Given the description of an element on the screen output the (x, y) to click on. 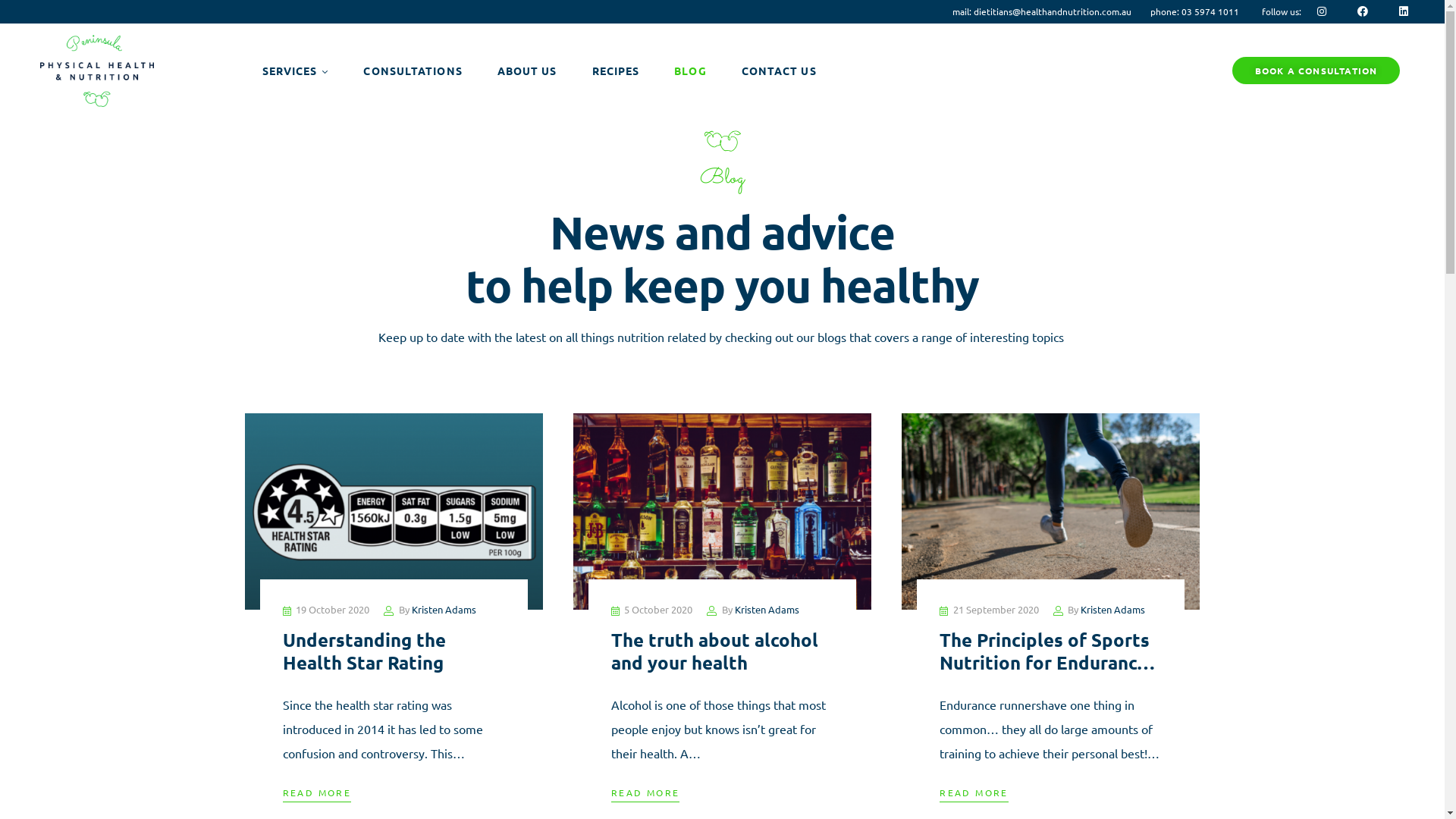
Understanding the Health Star Rating Element type: text (363, 650)
The Principles of Sports Nutrition for Endurance Runners Element type: text (1046, 661)
The truth about alcohol and your health Element type: text (714, 650)
READ MORE Element type: text (316, 792)
5 October 2020 Element type: text (658, 608)
21 September 2020 Element type: text (995, 608)
BLOG Element type: text (689, 70)
CONTACT US Element type: text (778, 70)
CONSULTATIONS Element type: text (412, 70)
03 5974 1011 Element type: text (1210, 11)
SERVICES Element type: text (294, 70)
READ MORE Element type: text (973, 792)
dietitians@healthandnutrition.com.au Element type: text (1052, 11)
19 October 2020 Element type: text (332, 608)
Kristen Adams Element type: text (443, 608)
READ MORE Element type: text (645, 792)
RECIPES Element type: text (615, 70)
Kristen Adams Element type: text (766, 608)
BOOK A CONSULTATION Element type: text (1316, 70)
ABOUT US Element type: text (527, 70)
Kristen Adams Element type: text (1112, 608)
